Given the description of an element on the screen output the (x, y) to click on. 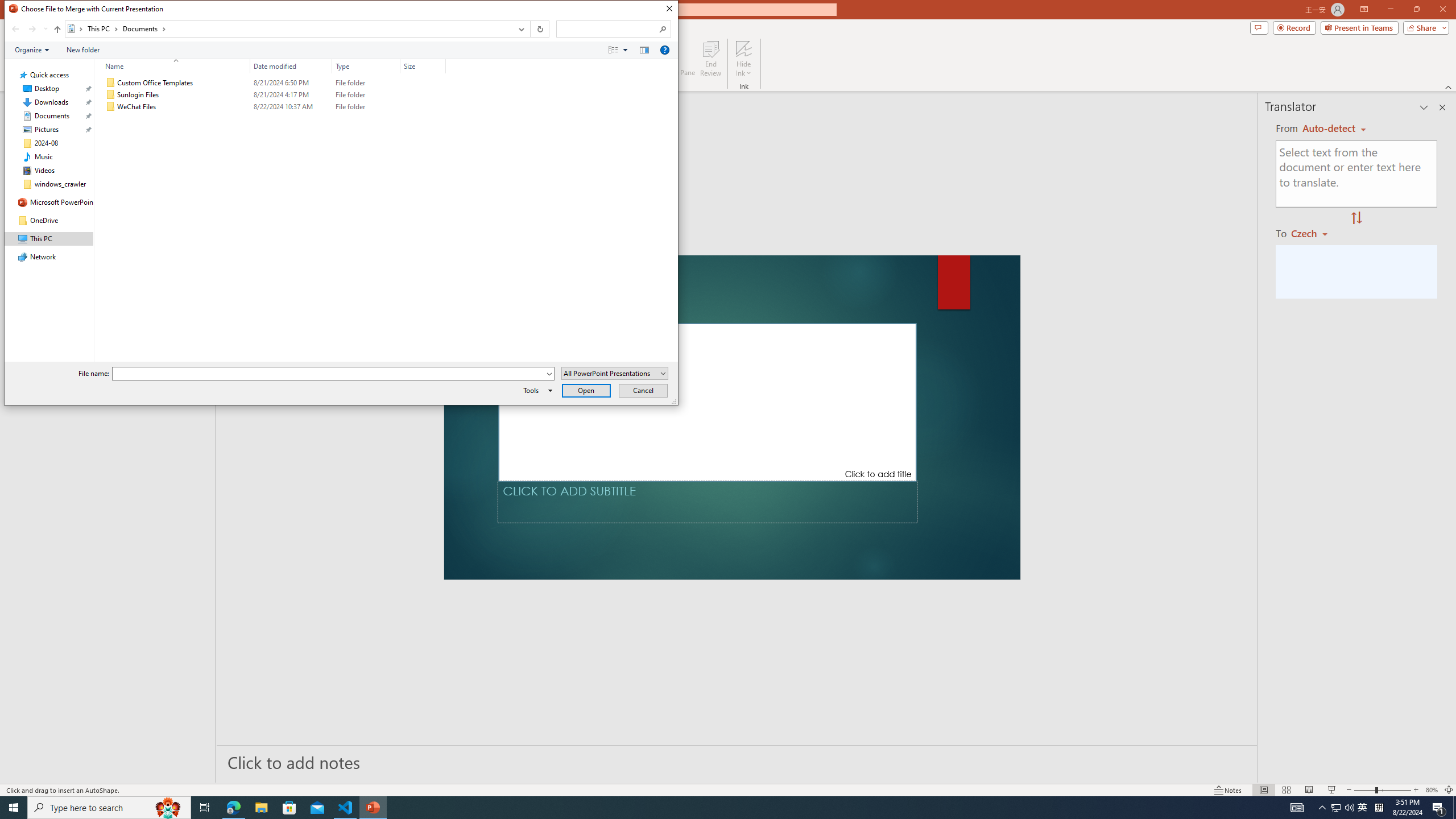
Type (365, 65)
Search Box (607, 28)
Files of type: (615, 373)
End Review (710, 58)
